Given the description of an element on the screen output the (x, y) to click on. 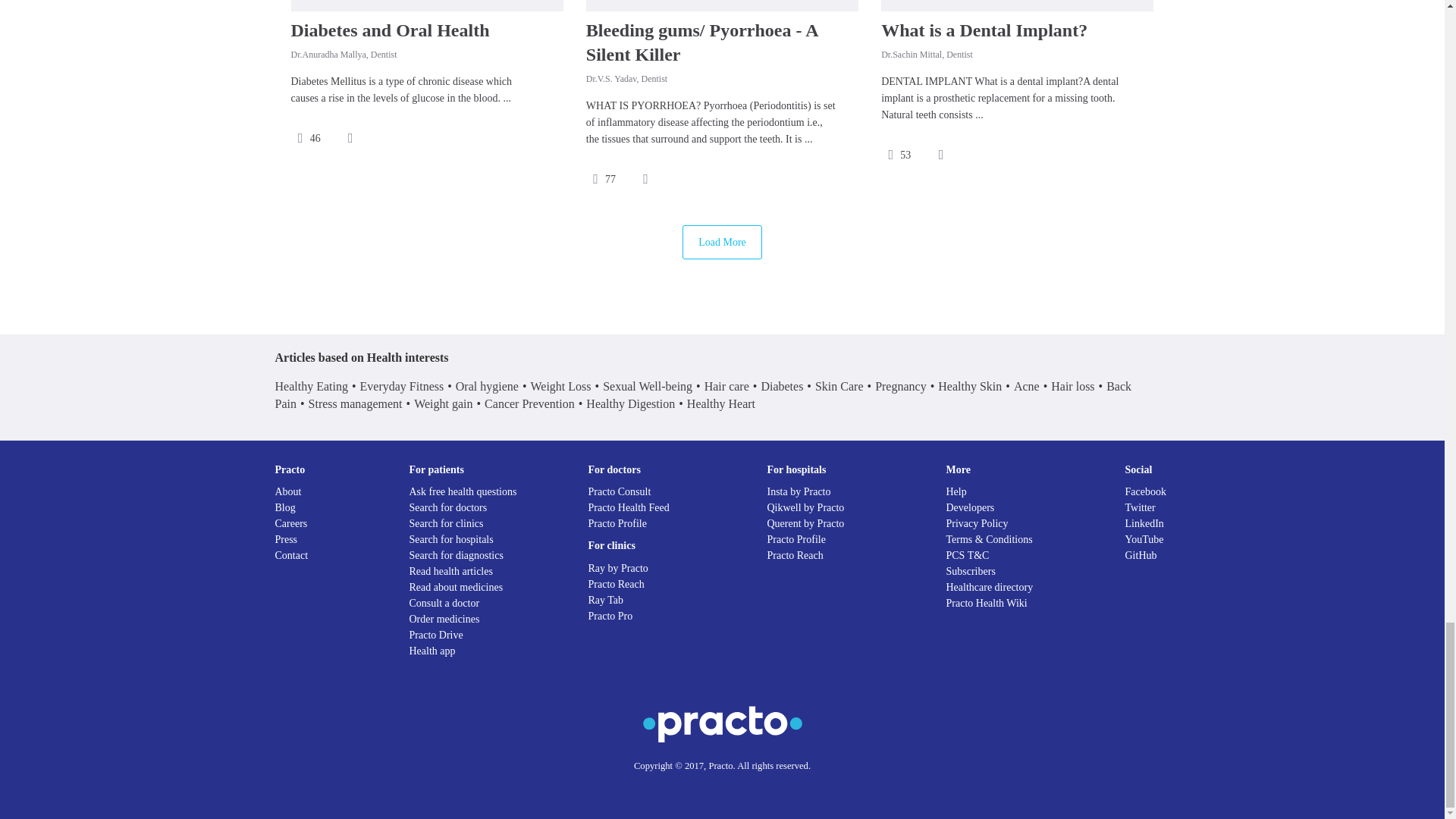
Read Health Articles (451, 571)
Consult a doctor (444, 603)
Blog (285, 507)
Careers (291, 523)
Read about medicines (456, 586)
About (288, 491)
Ask free health questions (462, 491)
Order medicines (444, 618)
Search for clinics (446, 523)
Search for doctors (448, 507)
